Given the description of an element on the screen output the (x, y) to click on. 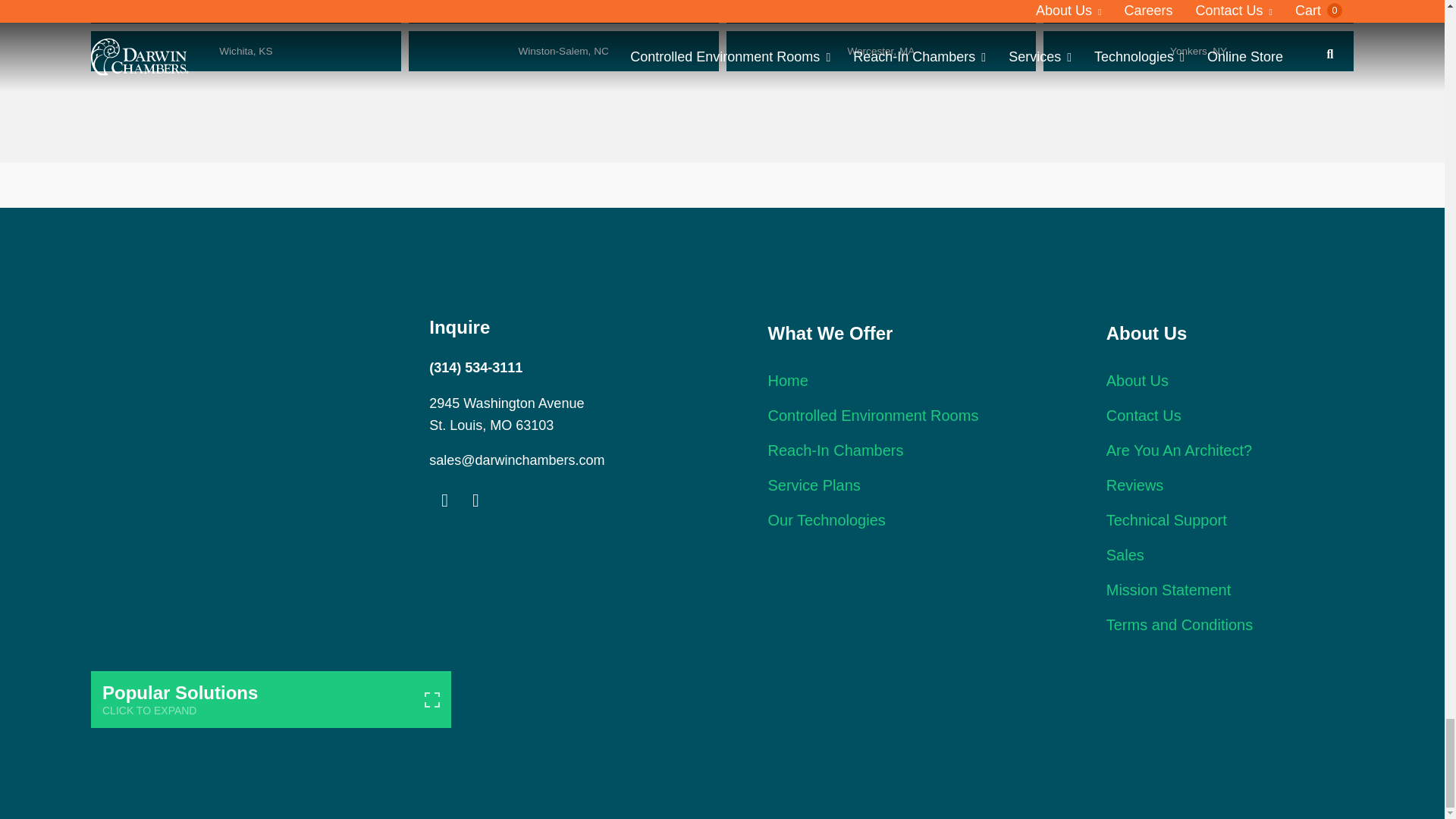
Are You An Architect? (1179, 450)
Reviews (1134, 484)
Controlled Environment Rooms (872, 415)
Our Technologies (826, 519)
Mission Statement (1168, 589)
Reach-In Chambers (834, 450)
Technical Support (1166, 519)
About Us (1137, 380)
Sales (1125, 555)
Service Plans (813, 484)
